Given the description of an element on the screen output the (x, y) to click on. 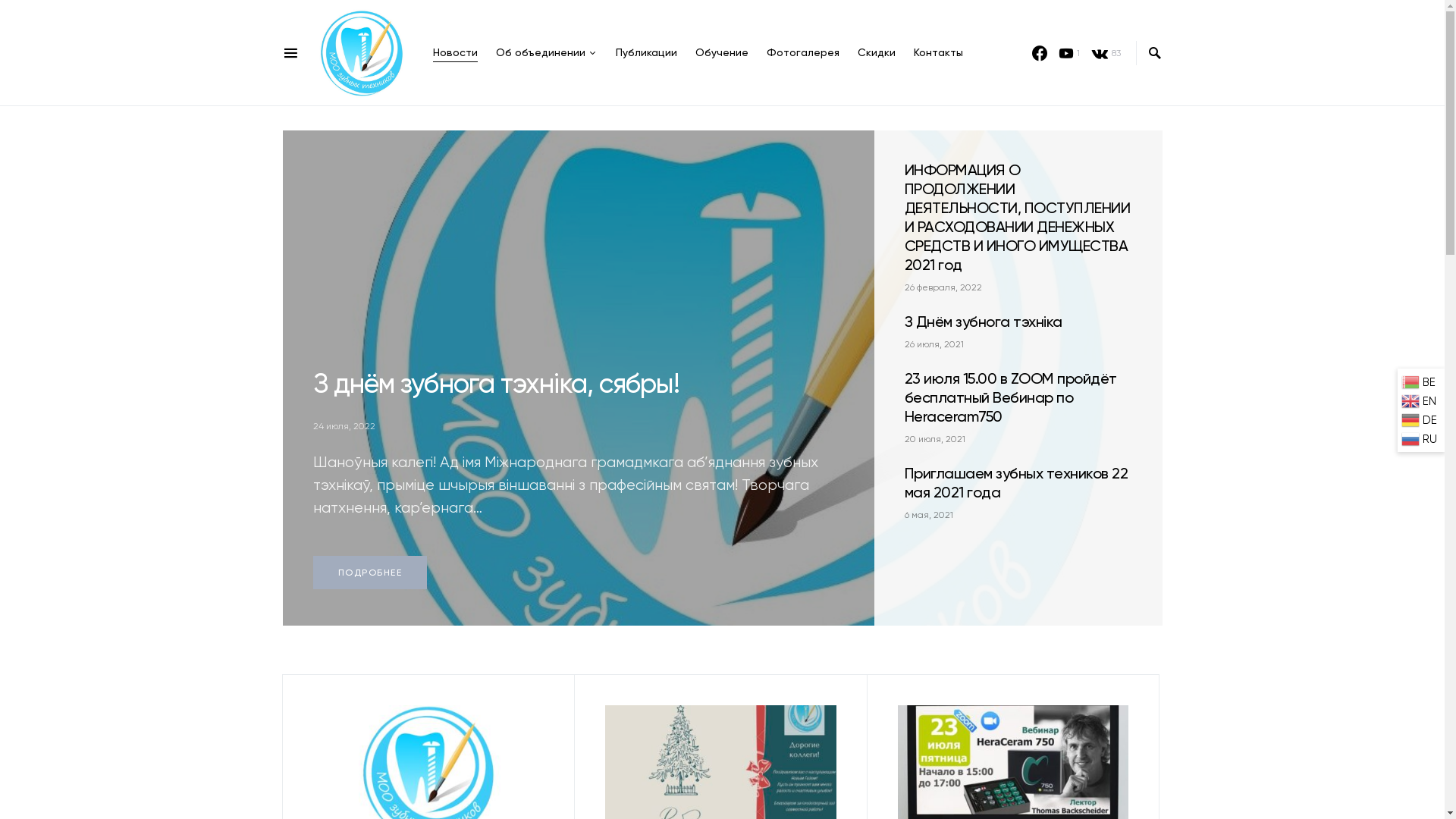
RU Element type: text (1420, 438)
BE Element type: text (1420, 381)
EN Element type: text (1420, 400)
DE Element type: text (1420, 419)
83 Element type: text (1106, 52)
1 Element type: text (1068, 52)
